Given the description of an element on the screen output the (x, y) to click on. 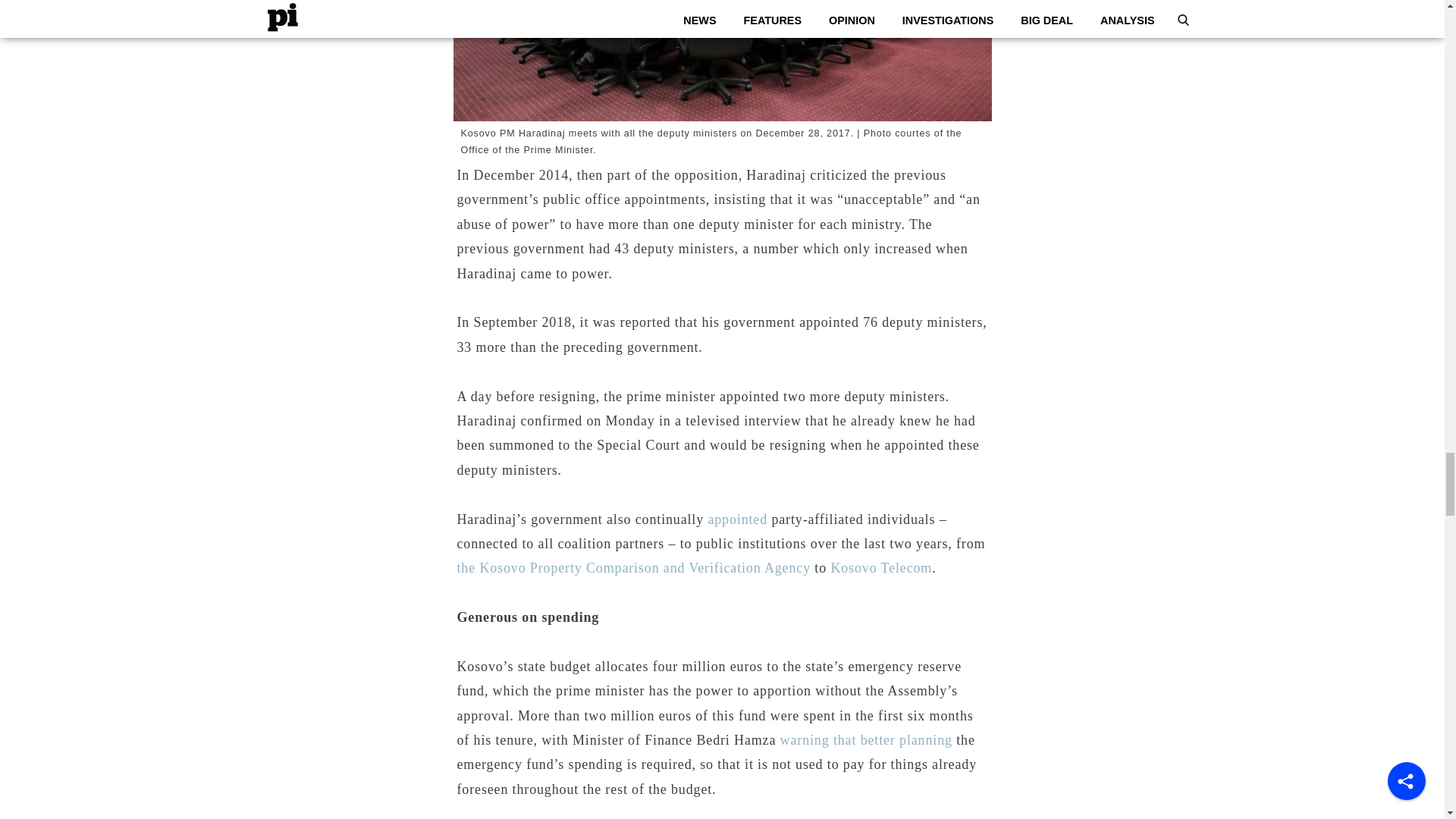
warning that better planning (866, 739)
appointed (737, 518)
the Kosovo Property Comparison and Verification Agency (633, 567)
Kosovo Telecom (880, 567)
